Given the description of an element on the screen output the (x, y) to click on. 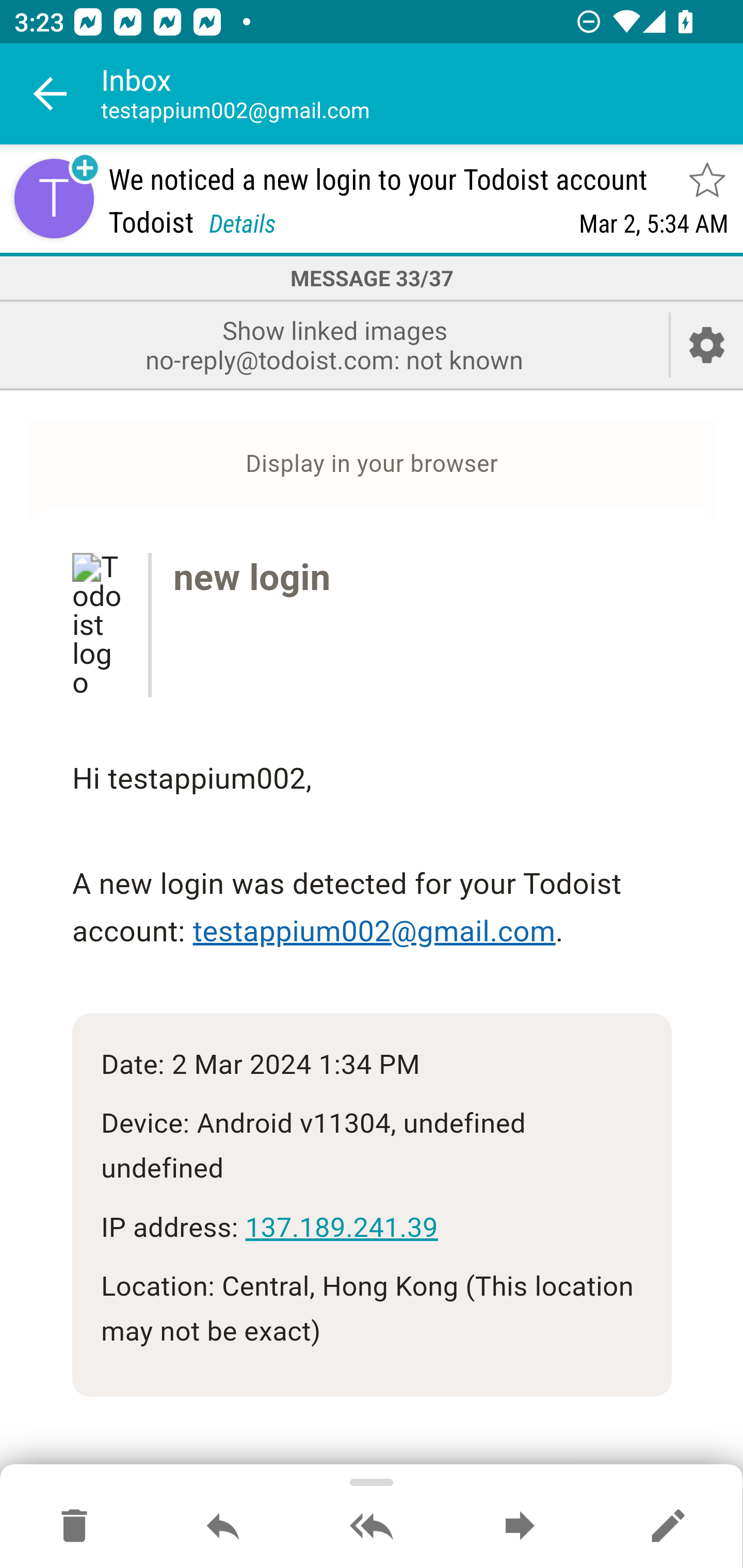
Navigate up (50, 93)
Inbox testappium002@gmail.com (422, 93)
Sender contact button (53, 198)
Show linked images
no-reply@todoist.com: not known (334, 344)
Account setup (706, 344)
Display in your browser (371, 464)
testappium002@gmail.com (373, 932)
137.189.241.39 (340, 1225)
Move to Deleted (74, 1527)
Reply (222, 1527)
Reply all (371, 1527)
Forward (519, 1527)
Reply as new (667, 1527)
